Given the description of an element on the screen output the (x, y) to click on. 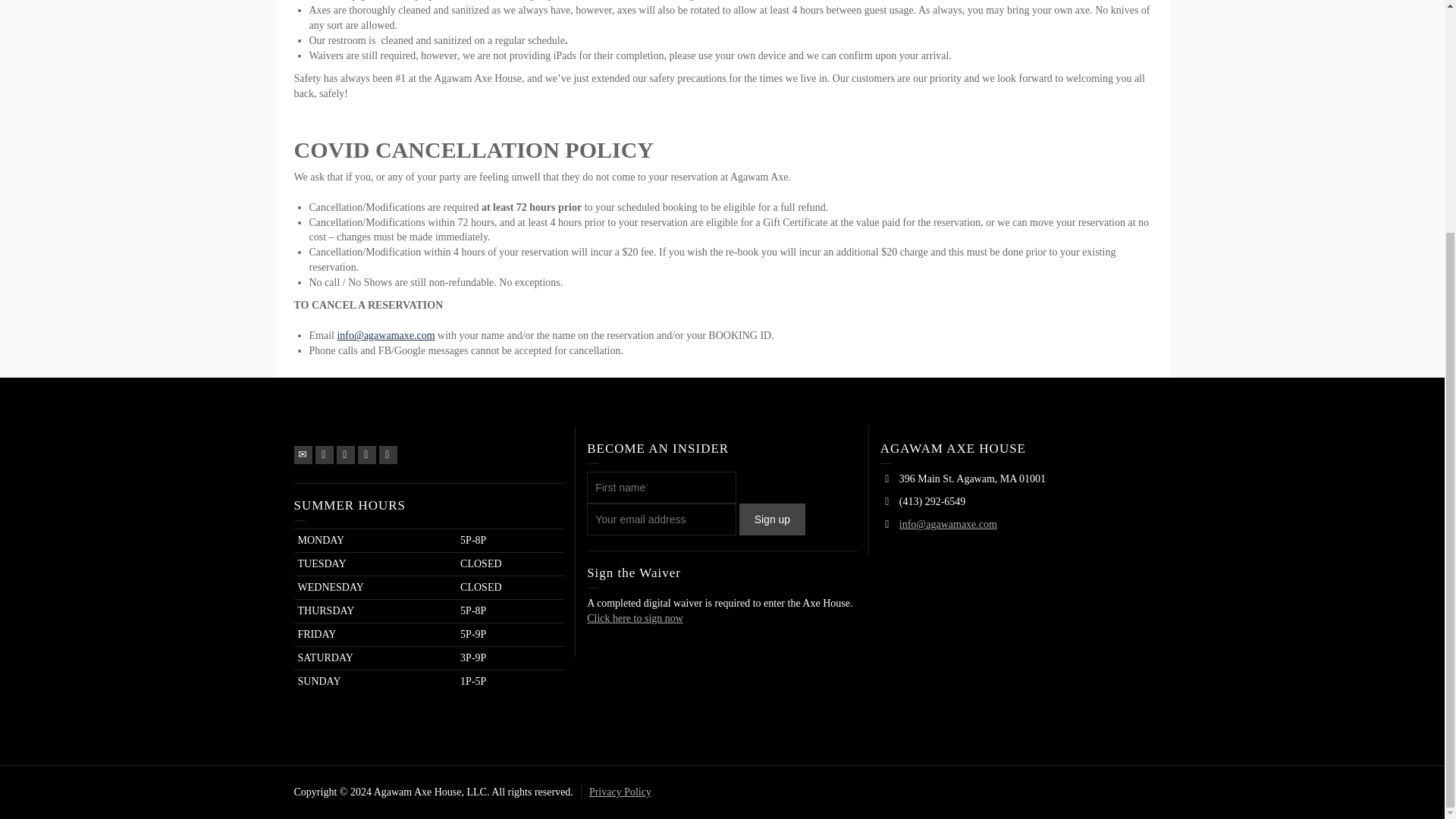
Email (303, 454)
Click here to sign now (634, 618)
Facebook (345, 454)
Privacy Policy (619, 791)
Instagram (387, 454)
Twitter (324, 454)
Sign up (772, 519)
Sign up (772, 519)
